Given the description of an element on the screen output the (x, y) to click on. 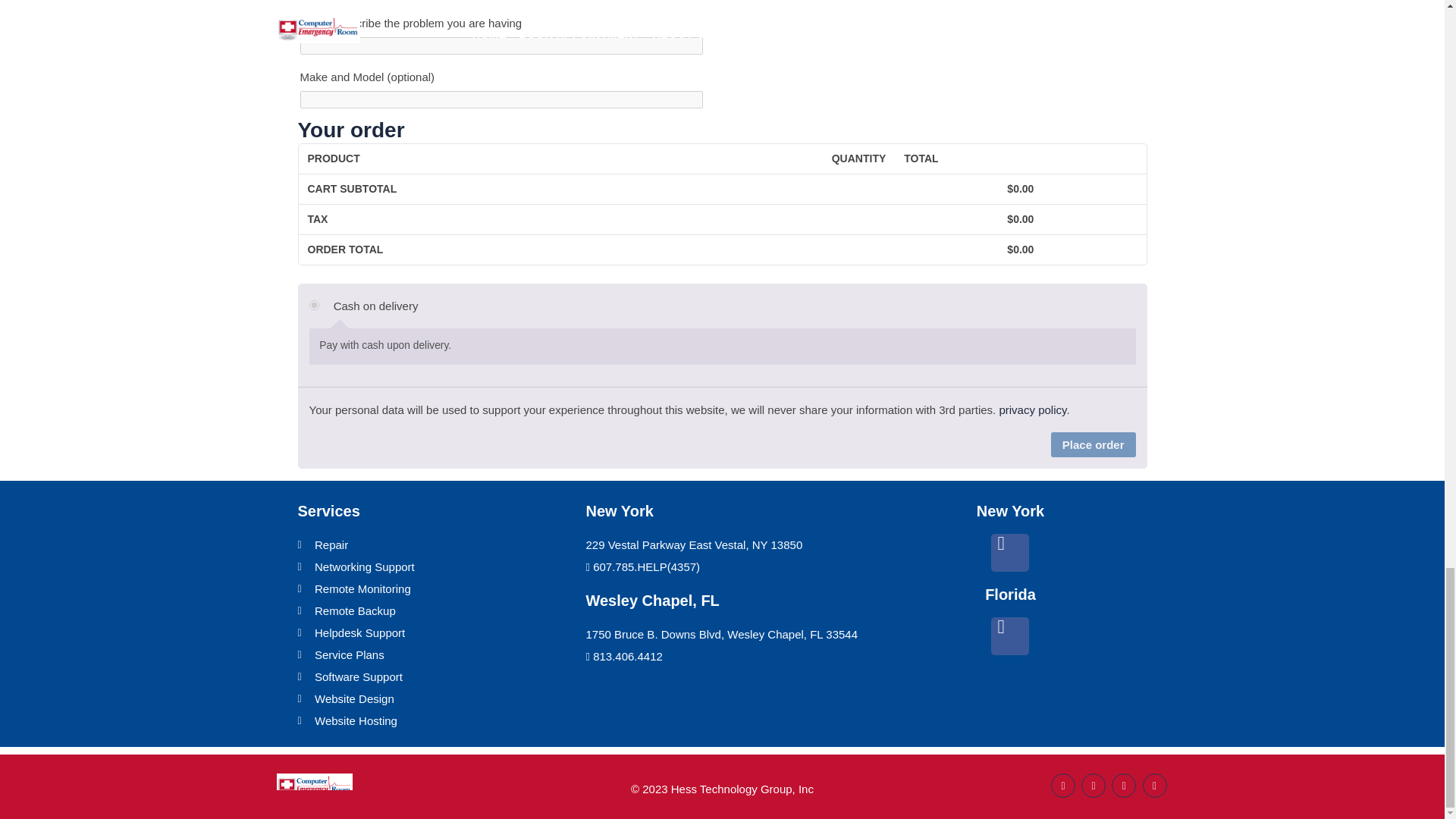
Place order (1093, 444)
privacy policy (1031, 409)
Networking Support (433, 567)
Florida (1010, 594)
cod (313, 305)
Wesley Chapel, FL (652, 600)
New York (1009, 510)
New York (618, 510)
